Given the description of an element on the screen output the (x, y) to click on. 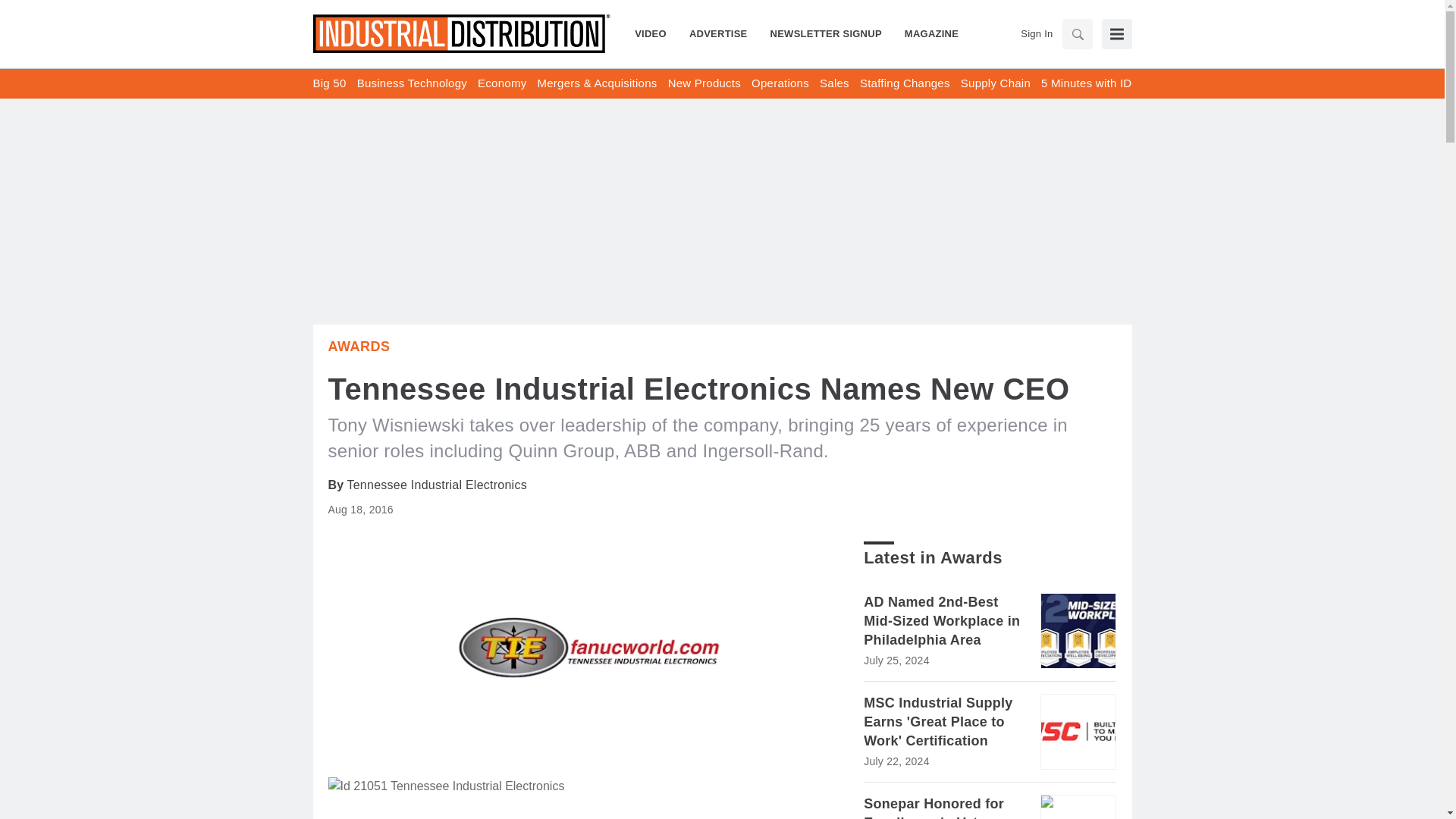
MAGAZINE (925, 33)
Economy (501, 83)
New Products (704, 83)
Supply Chain (995, 83)
Sign In (1036, 33)
Big 50 (329, 83)
NEWSLETTER SIGNUP (825, 33)
Sales (833, 83)
Operations (780, 83)
ADVERTISE (718, 33)
